Given the description of an element on the screen output the (x, y) to click on. 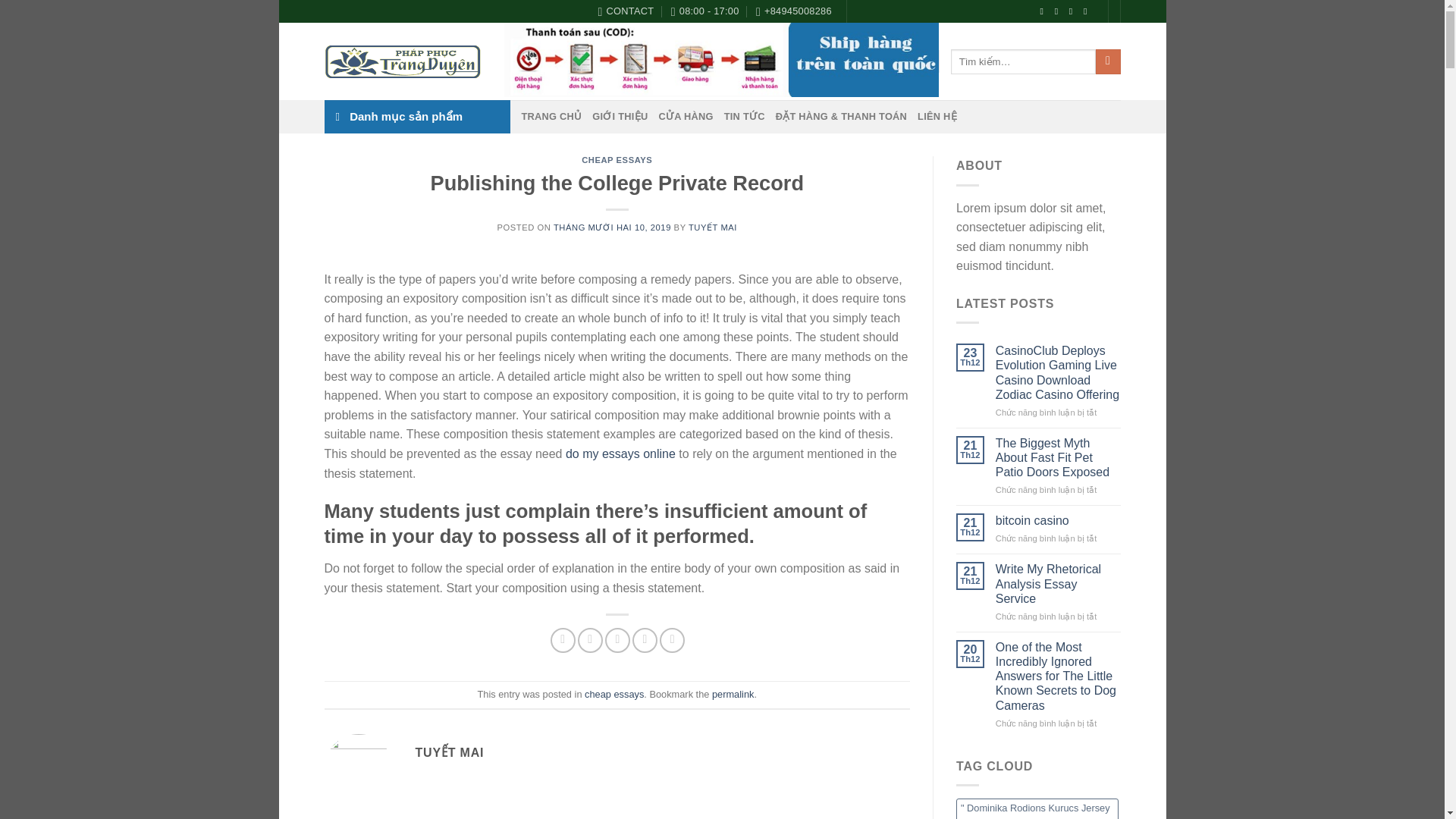
Share on Twitter (590, 640)
cheap essays (614, 694)
CHEAP ESSAYS (616, 159)
Email to a Friend (617, 640)
08:00 - 17:00 (705, 11)
08:00 - 17:00  (705, 11)
Permalink to Publishing the College Private Record (732, 694)
Share on LinkedIn (671, 640)
Share on Facebook (562, 640)
permalink (732, 694)
Pin on Pinterest (644, 640)
do my essays online (620, 453)
CONTACT (624, 11)
